Given the description of an element on the screen output the (x, y) to click on. 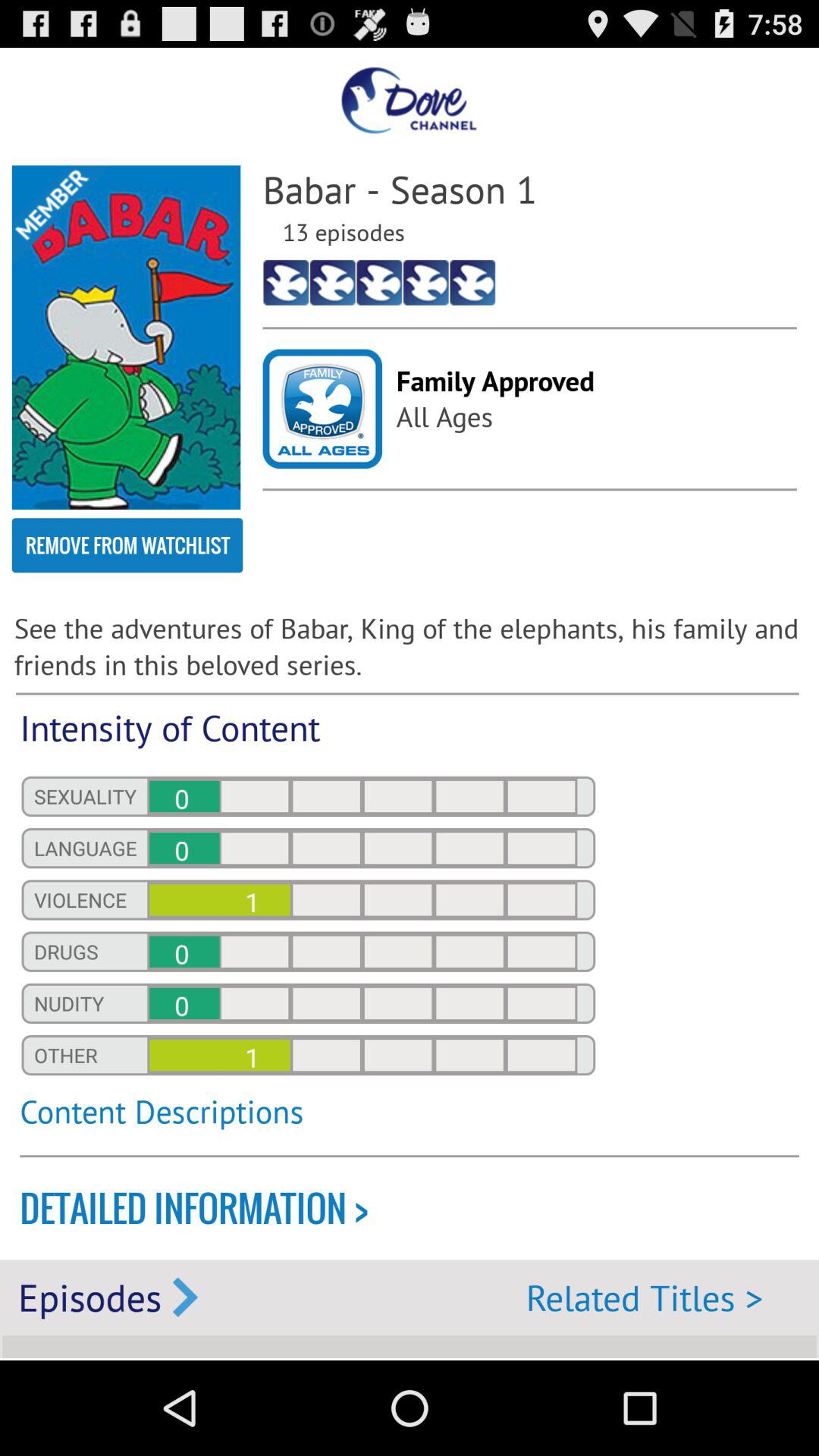
scroll to related titles > item (644, 1297)
